Given the description of an element on the screen output the (x, y) to click on. 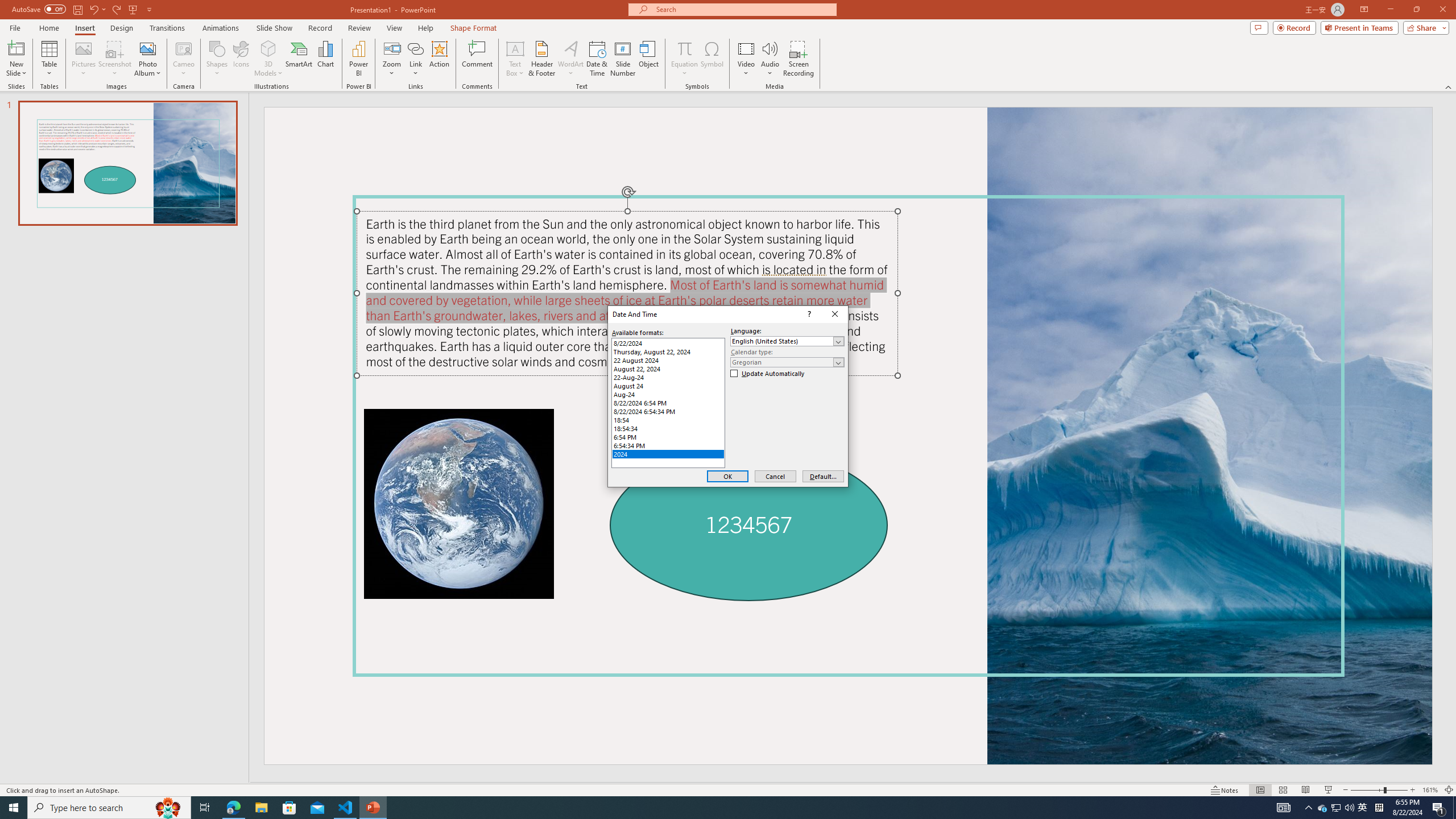
Transitions (167, 28)
Link (415, 58)
Photo Album... (147, 58)
22 August 2024 (667, 360)
Screenshot (114, 58)
Record (320, 28)
Power BI (358, 58)
Microsoft search (742, 9)
Zoom to Fit  (1362, 807)
Cameo (1449, 790)
Running applications (183, 58)
Microsoft Edge - 1 running window (700, 807)
File Explorer (233, 807)
